Given the description of an element on the screen output the (x, y) to click on. 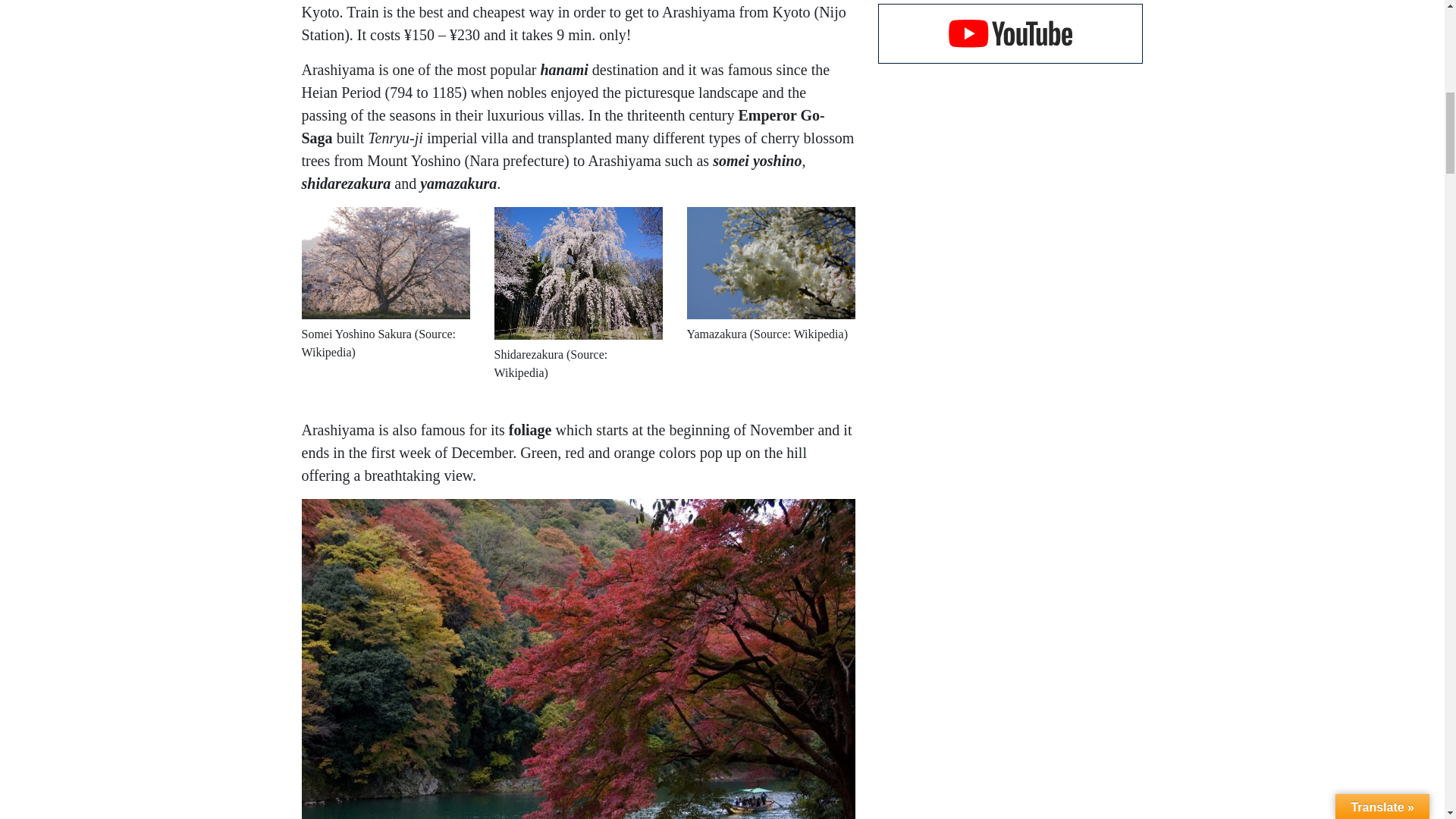
Youtube (1009, 33)
